Given the description of an element on the screen output the (x, y) to click on. 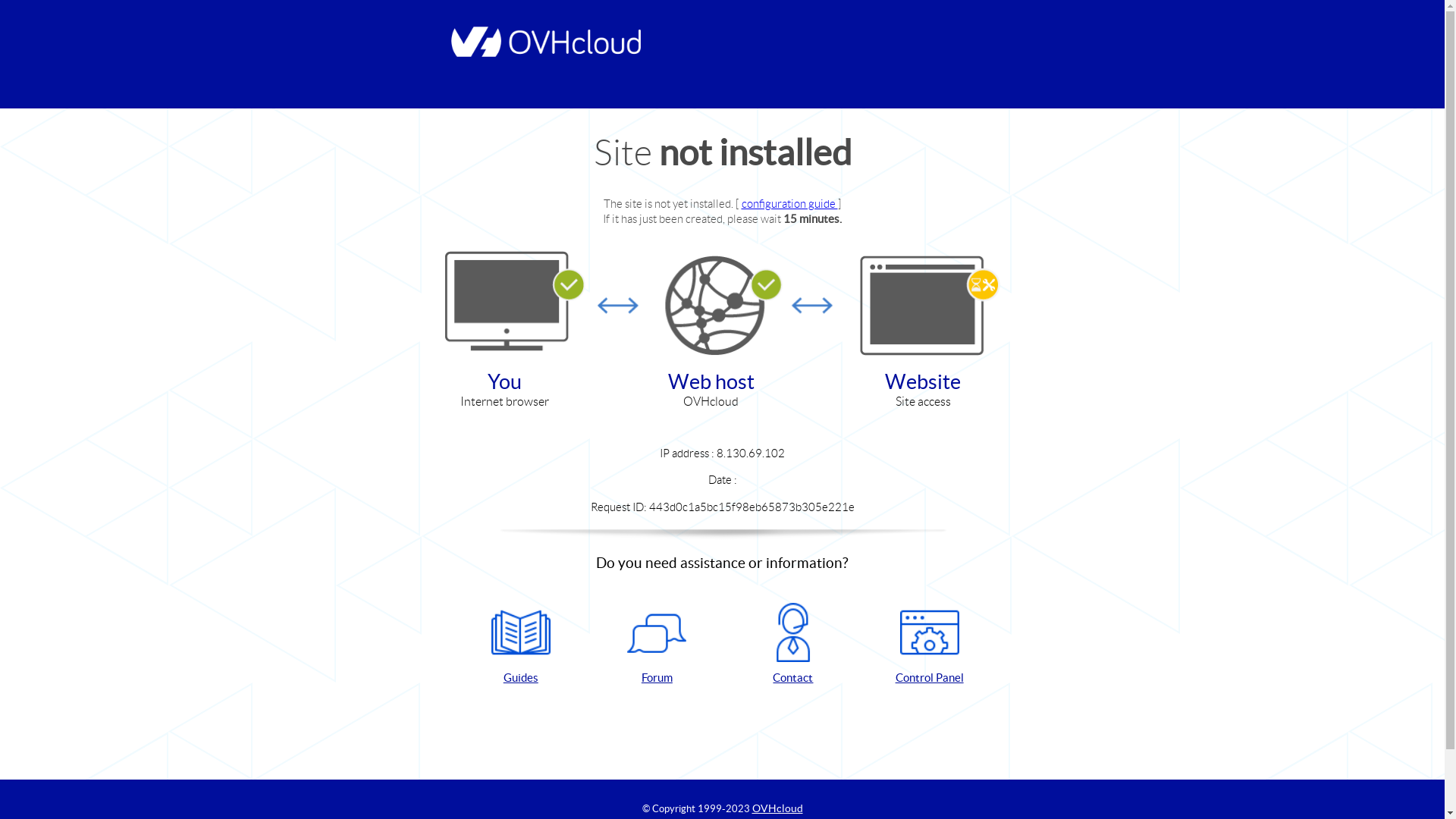
OVHcloud Element type: text (777, 808)
Forum Element type: text (656, 644)
Contact Element type: text (792, 644)
Control Panel Element type: text (929, 644)
Guides Element type: text (520, 644)
configuration guide Element type: text (789, 203)
